Given the description of an element on the screen output the (x, y) to click on. 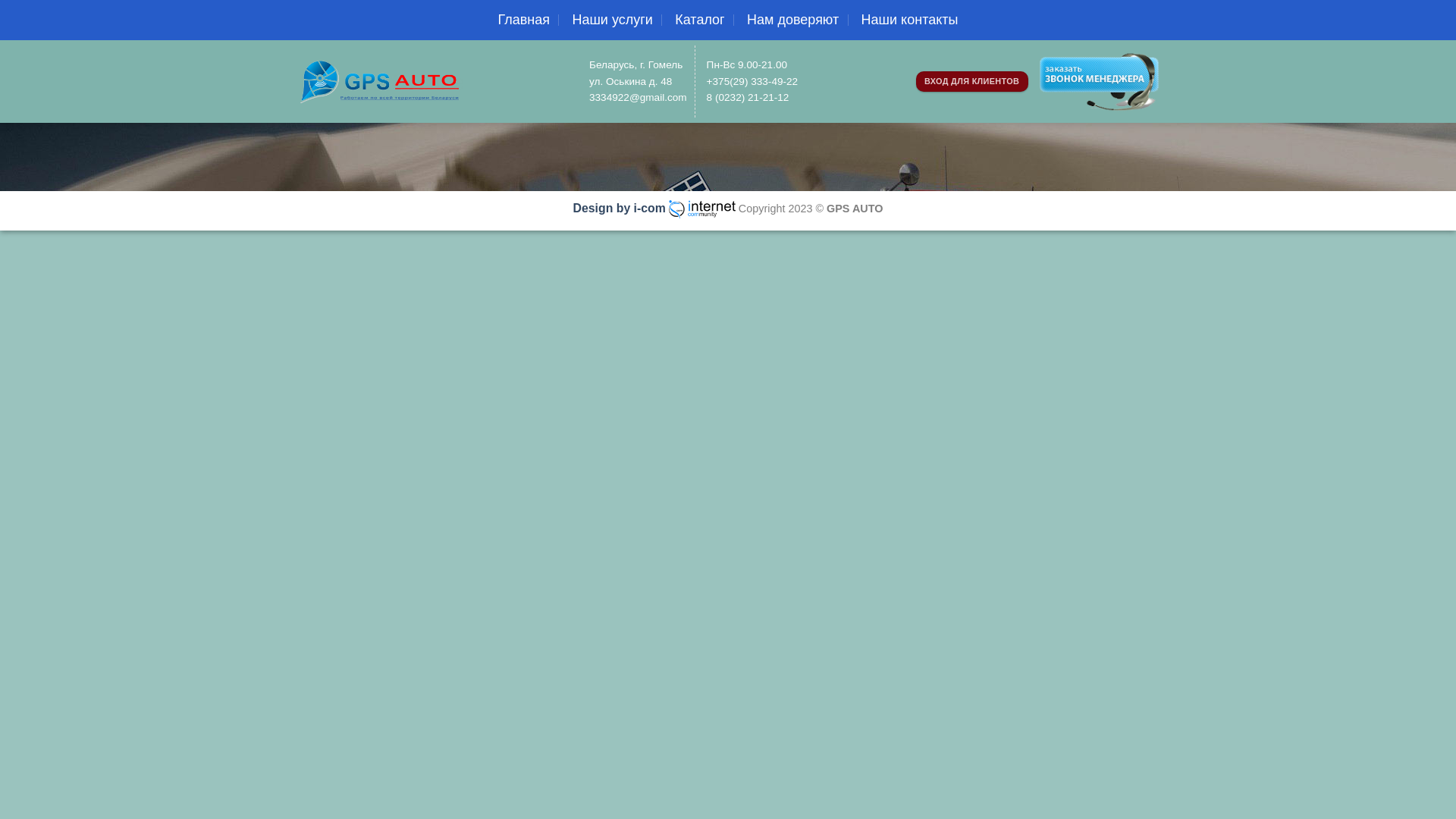
Skip to content Element type: text (0, 0)
Design by i-com Element type: text (619, 207)
